Given the description of an element on the screen output the (x, y) to click on. 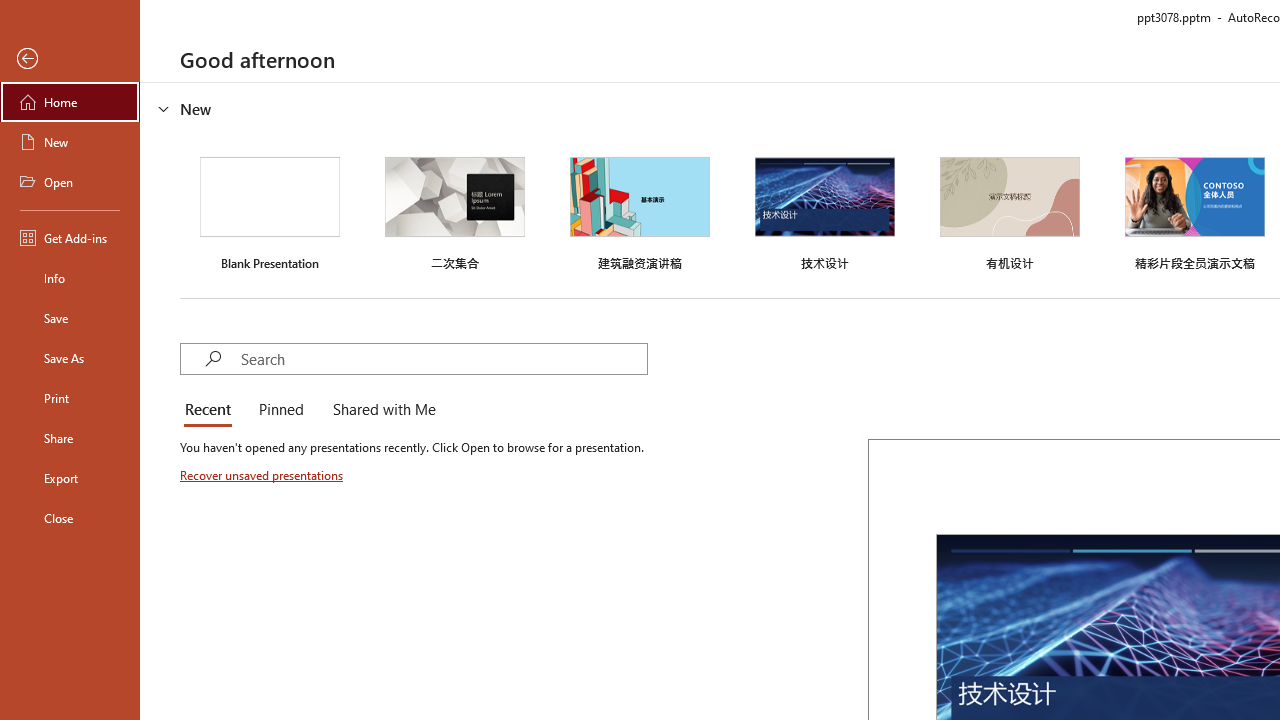
Recover unsaved presentations (263, 475)
Get Add-ins (69, 237)
Back (69, 59)
